Given the description of an element on the screen output the (x, y) to click on. 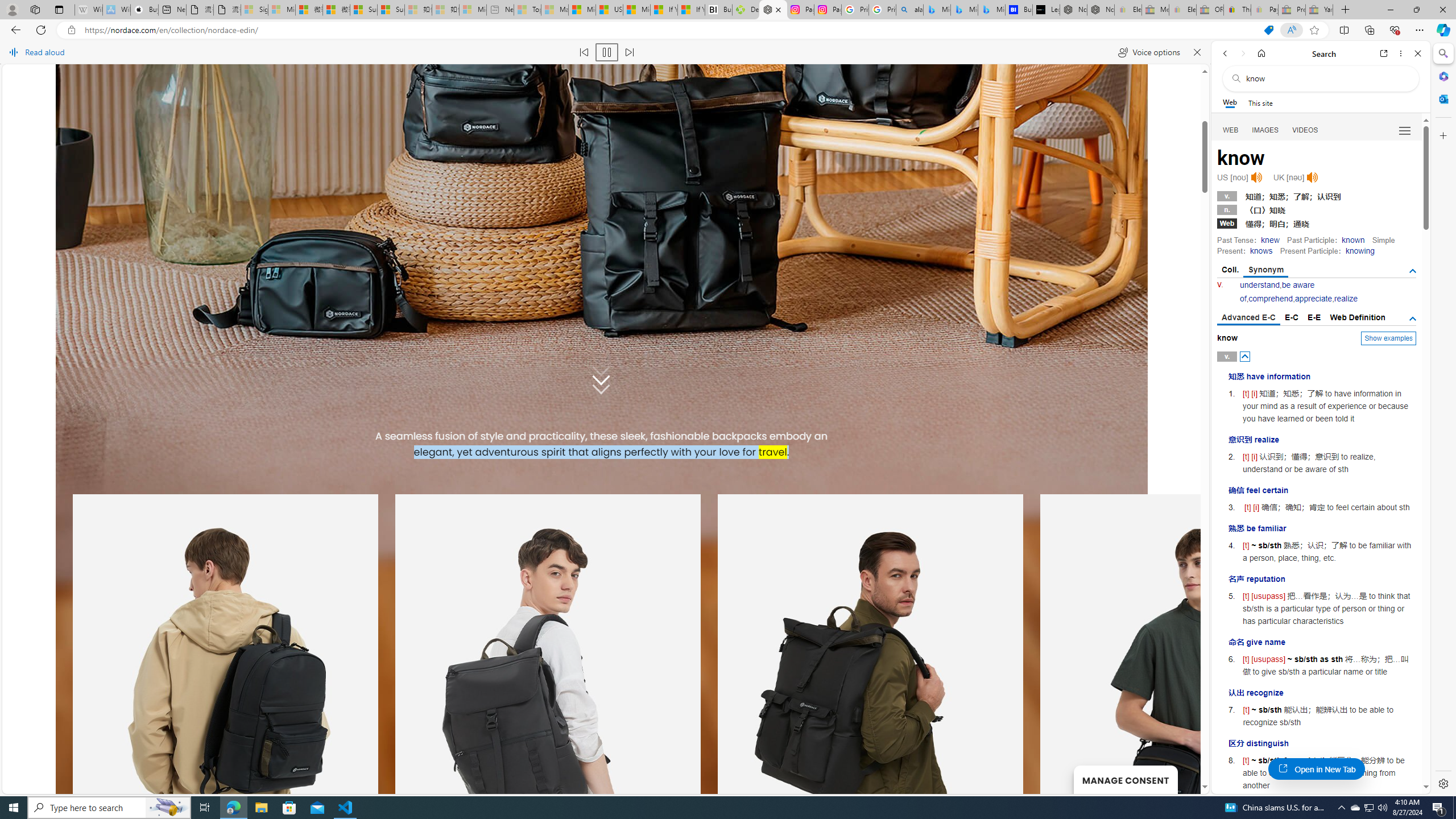
AutomationID: posbtn_0 (1245, 356)
AutomationID: tgdef (1412, 318)
known (1352, 239)
AutomationID: tgsb (1412, 270)
Press Room - eBay Inc. - Sleeping (1292, 9)
Coll. (1230, 269)
